Given the description of an element on the screen output the (x, y) to click on. 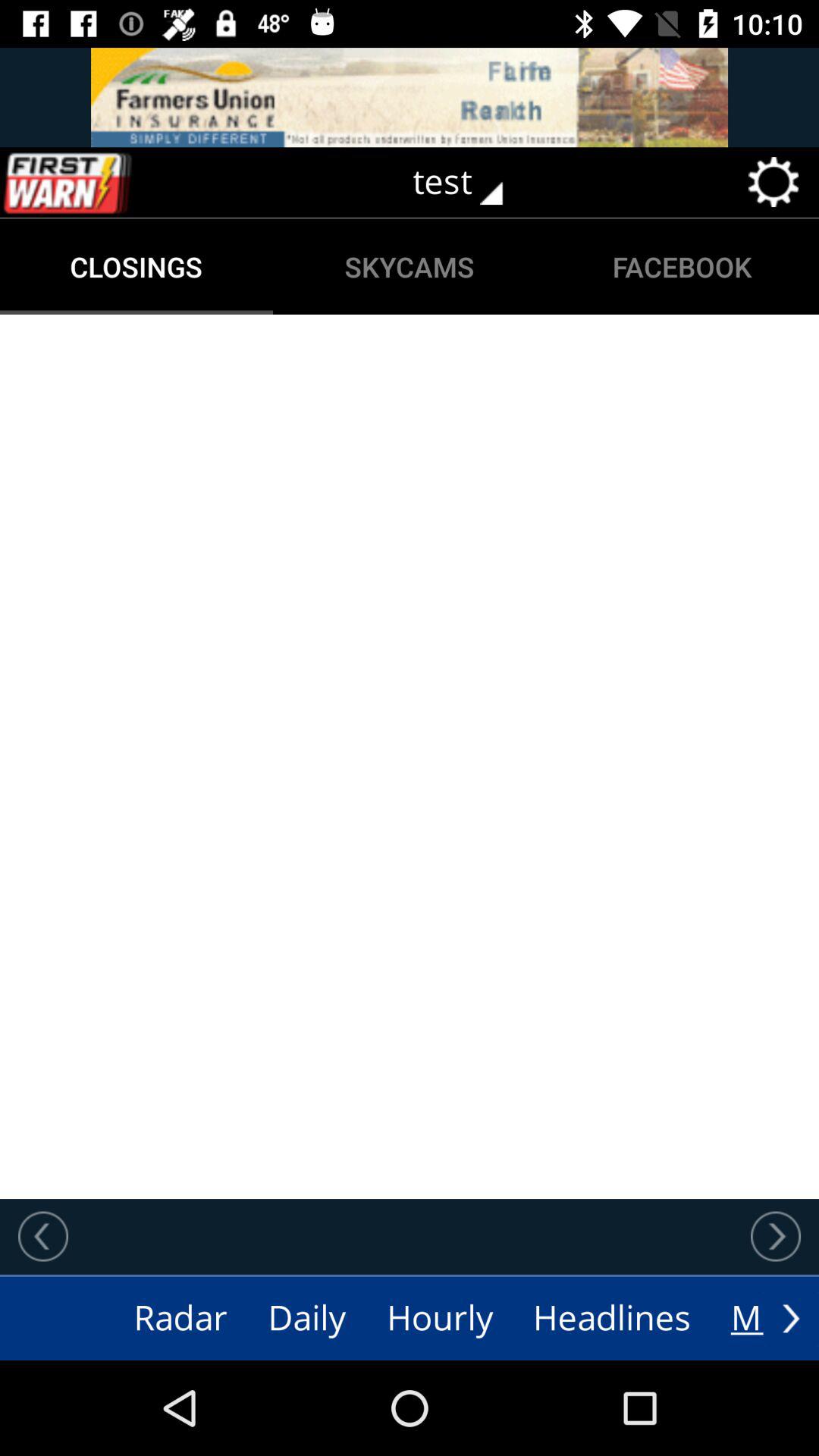
direct to another website (409, 97)
